Given the description of an element on the screen output the (x, y) to click on. 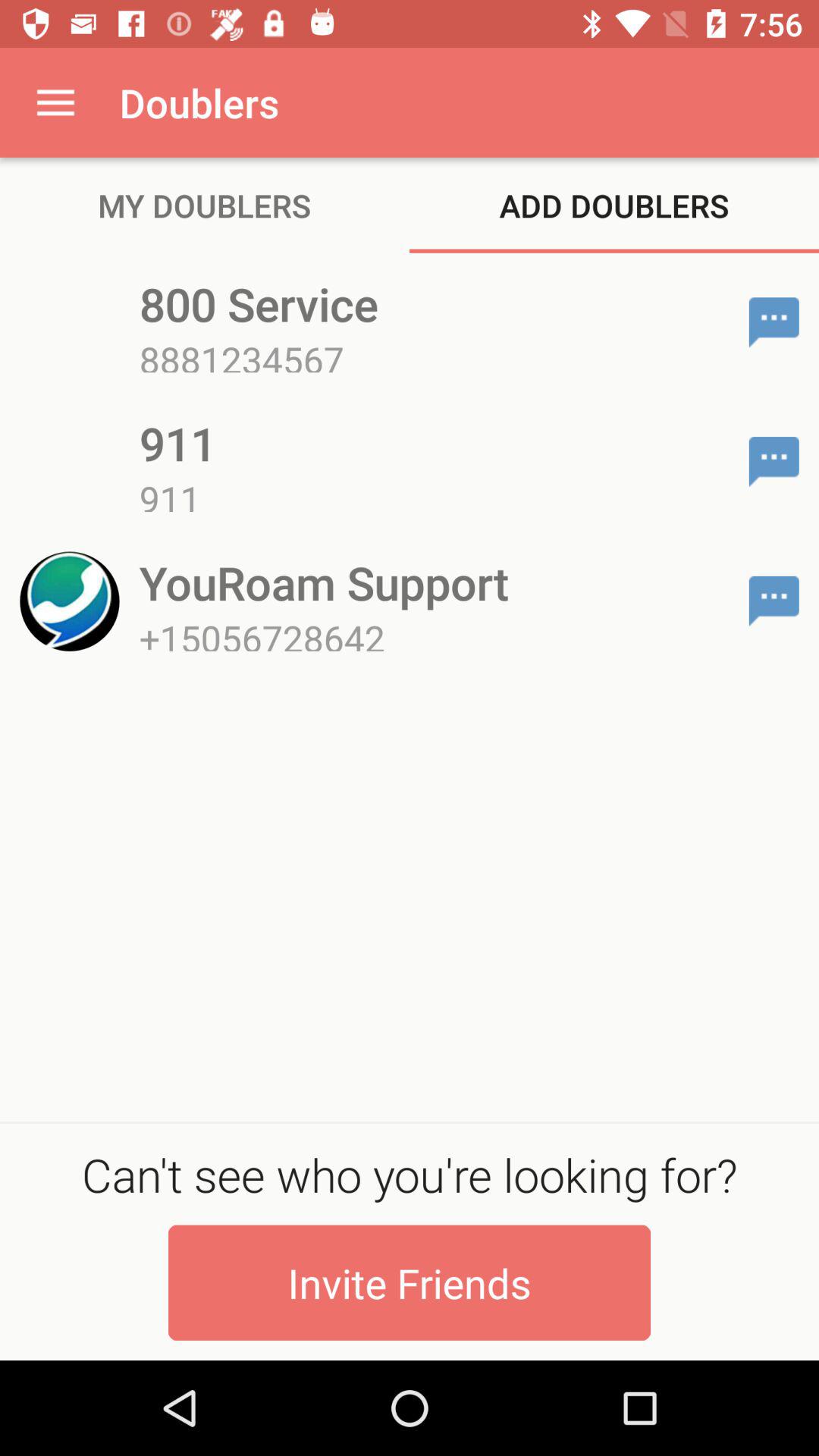
turn off app next to doublers app (55, 102)
